Given the description of an element on the screen output the (x, y) to click on. 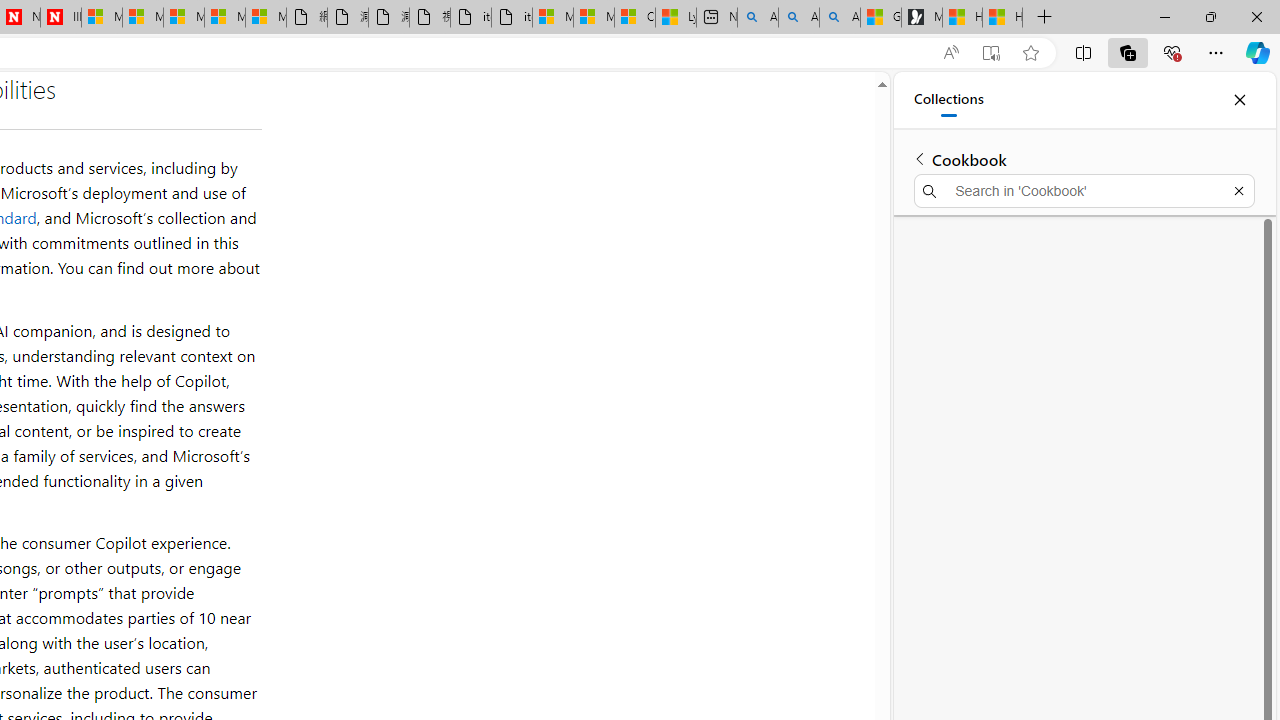
itconcepthk.com/projector_solutions.mp4 (511, 17)
